Given the description of an element on the screen output the (x, y) to click on. 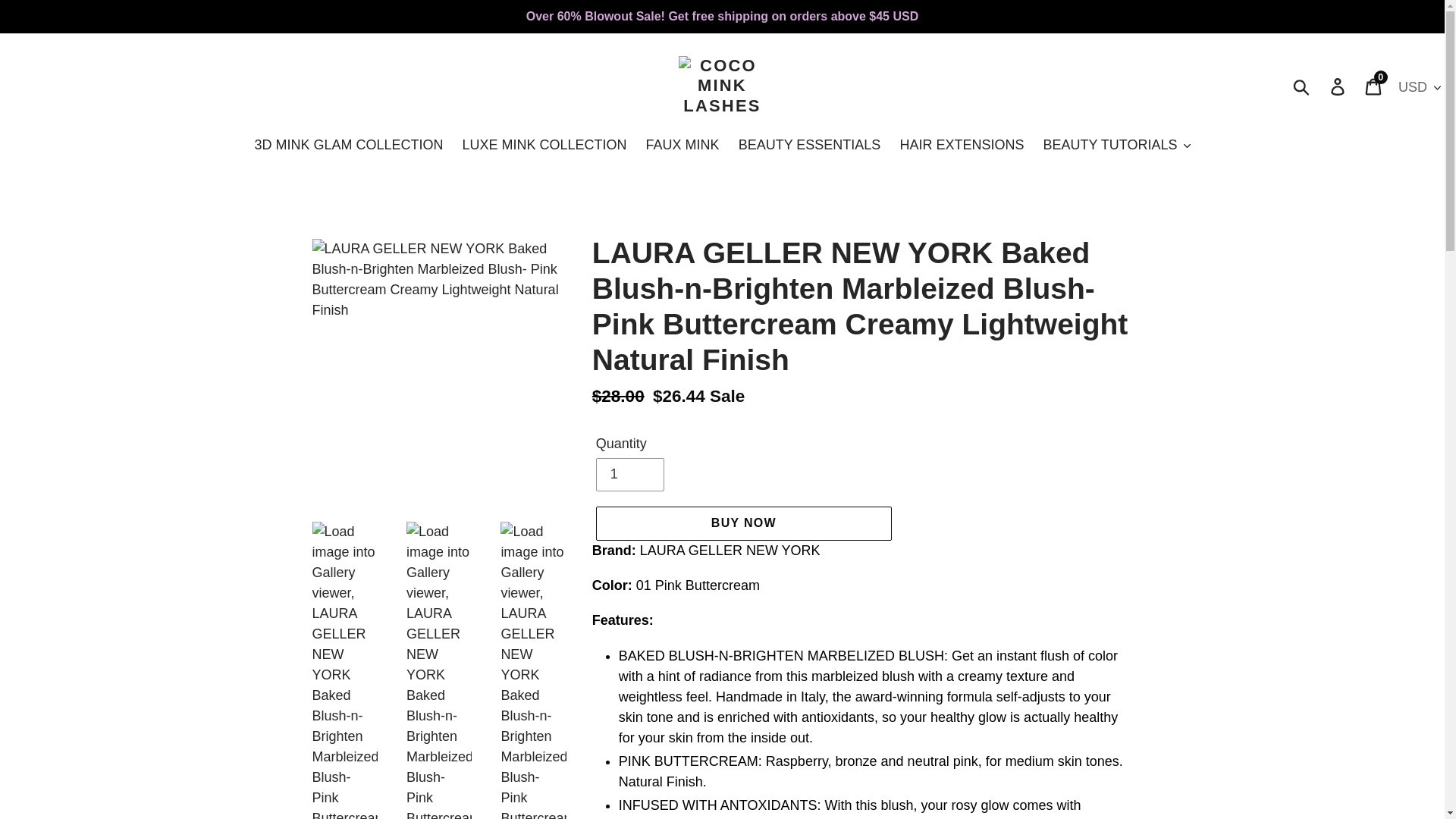
Log in (1338, 85)
BUY NOW (743, 522)
FAUX MINK (1373, 85)
3D MINK GLAM COLLECTION (682, 146)
Submit (347, 146)
HAIR EXTENSIONS (1302, 86)
LUXE MINK COLLECTION (960, 146)
1 (544, 146)
BEAUTY ESSENTIALS (629, 474)
